Given the description of an element on the screen output the (x, y) to click on. 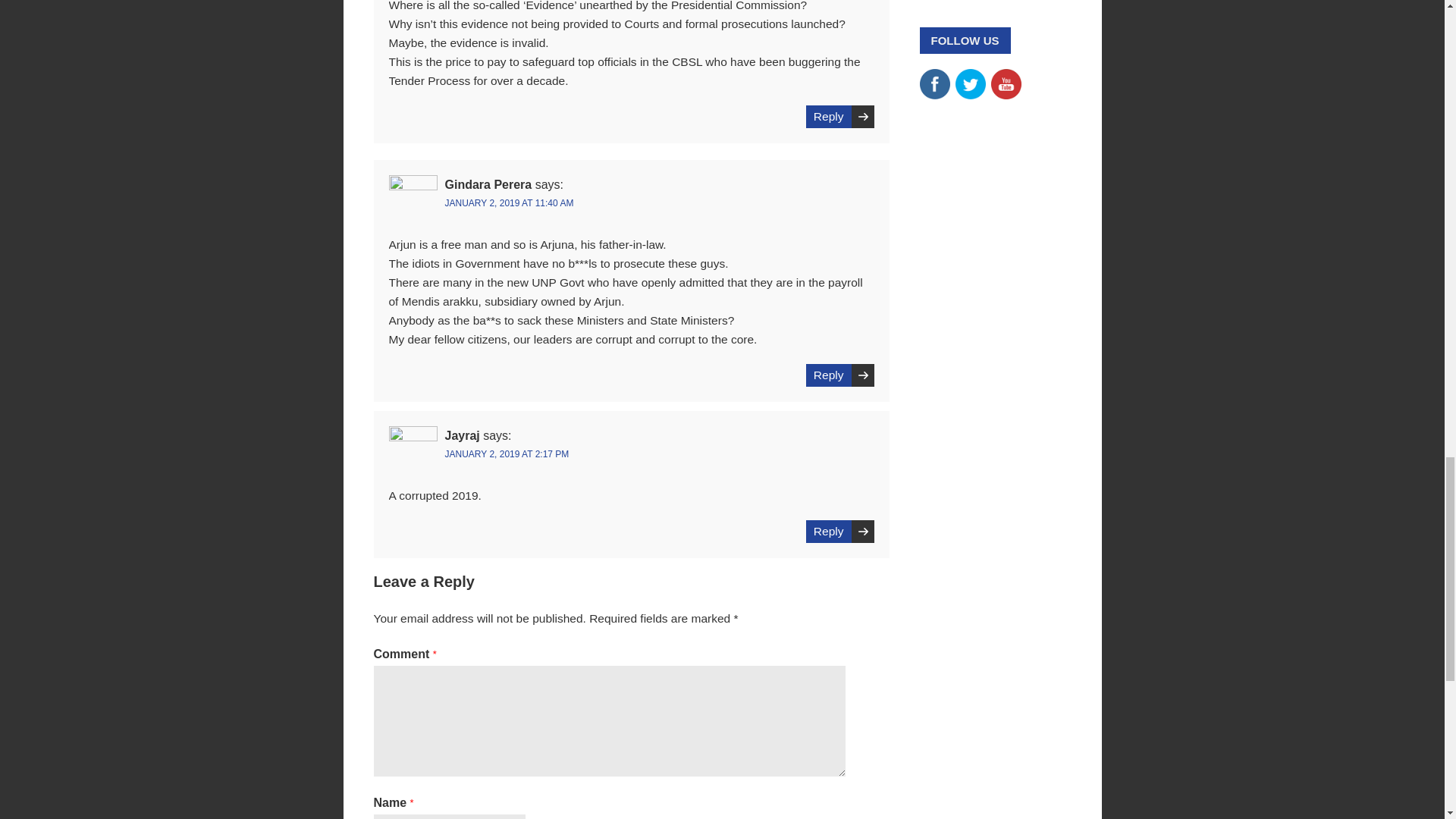
JANUARY 2, 2019 AT 2:17 PM (506, 453)
JANUARY 2, 2019 AT 11:40 AM (508, 203)
